Given the description of an element on the screen output the (x, y) to click on. 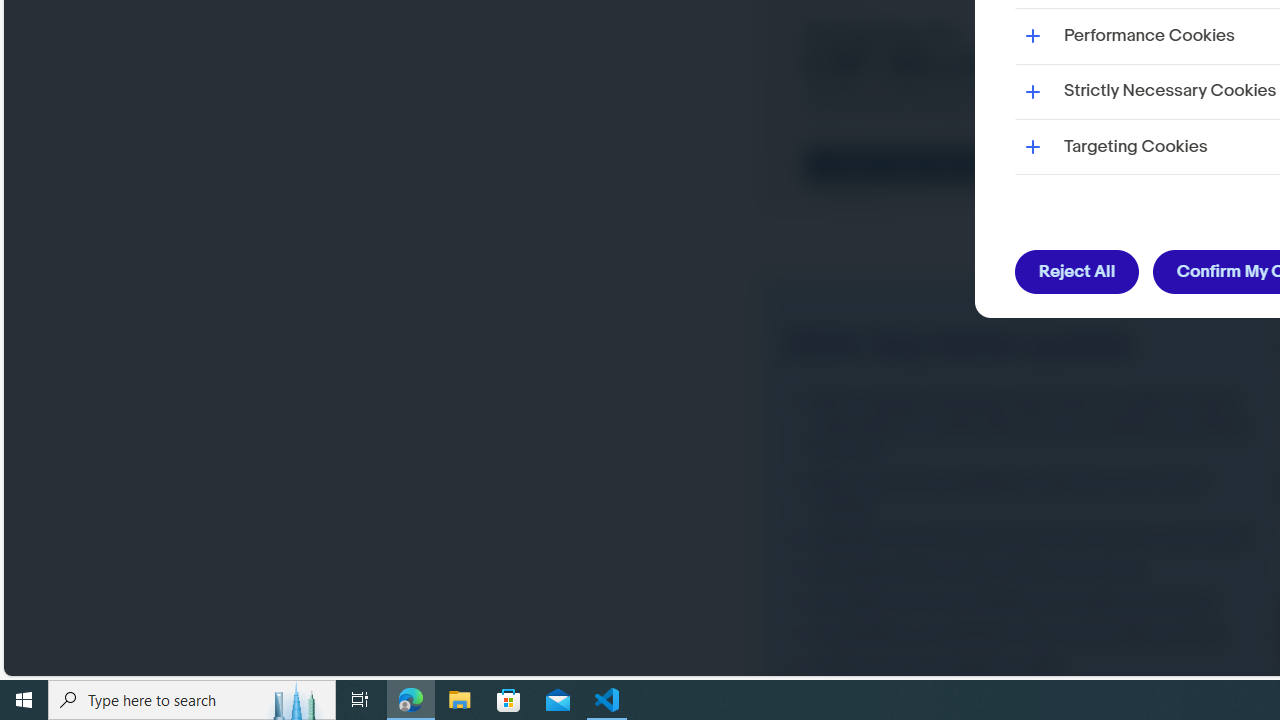
A simplified, consolidated view of your eBay earnings (1024, 632)
Get eBay product sales research on the go (1024, 569)
Venmo is now accepted on eBay (1024, 665)
More marketing capabilities, right from your Active Listings (1024, 492)
Empower your advertising with more metrics and control (1024, 537)
Reject All (1077, 272)
Say hello to the new desktop messaging experience (1024, 601)
